Given the description of an element on the screen output the (x, y) to click on. 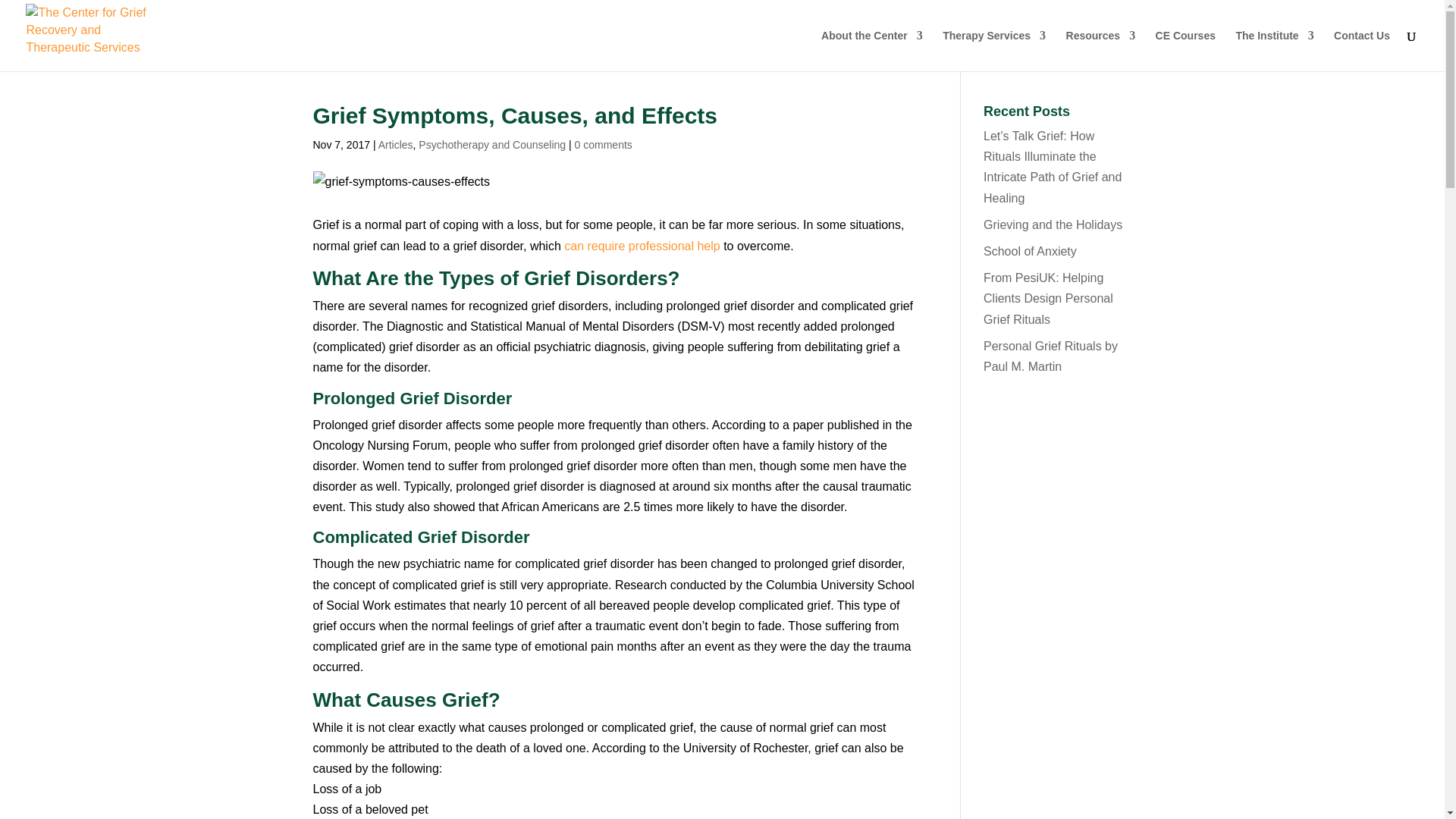
Contact Us (1361, 50)
About the Center (872, 50)
CE Courses (1185, 50)
Therapy Services (993, 50)
0 comments (603, 144)
The Institute (1273, 50)
Psychotherapy and Counseling (492, 144)
can require professional help (641, 245)
Articles (395, 144)
Resources (1100, 50)
